Given the description of an element on the screen output the (x, y) to click on. 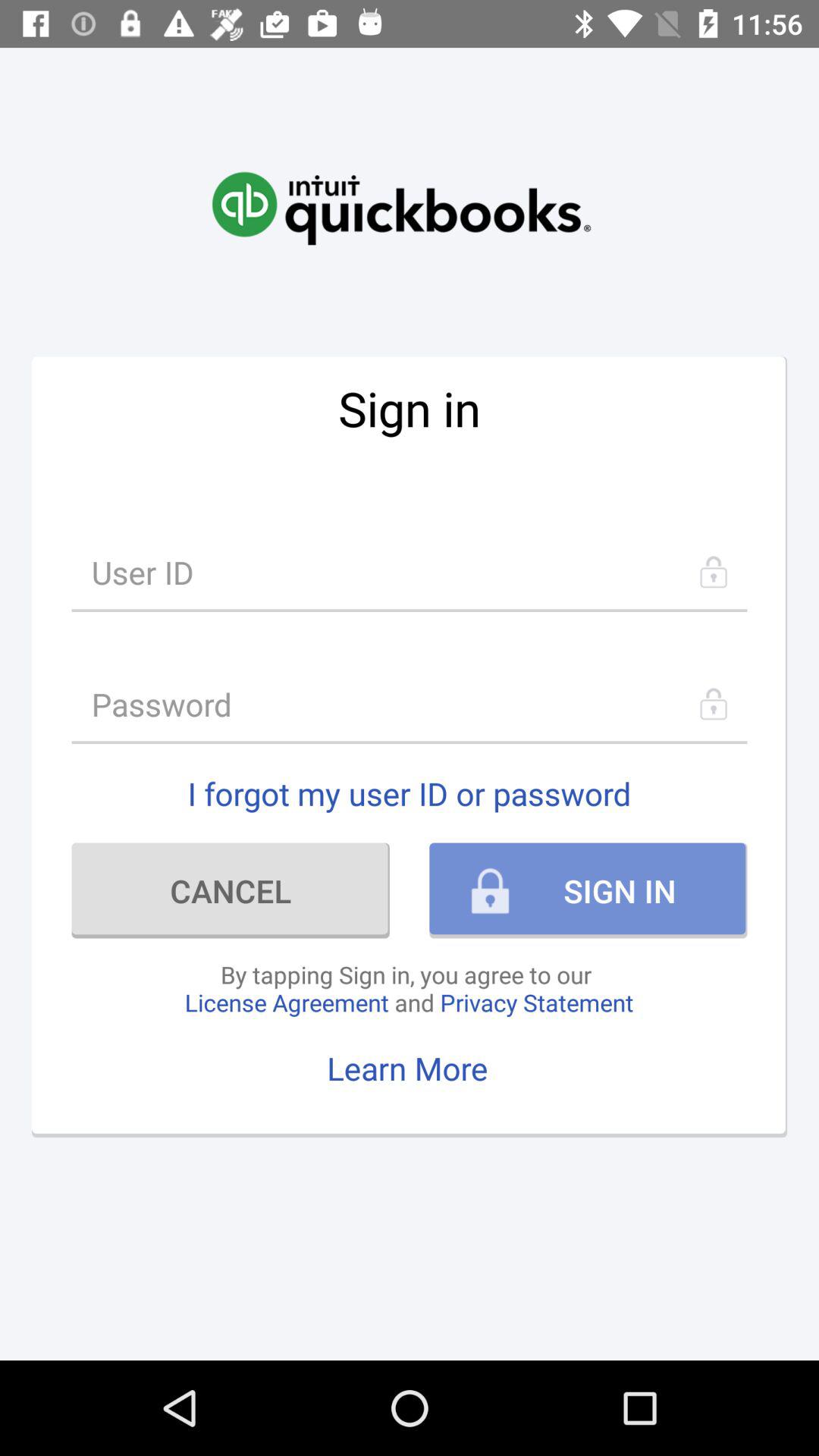
enter user id (409, 571)
